Given the description of an element on the screen output the (x, y) to click on. 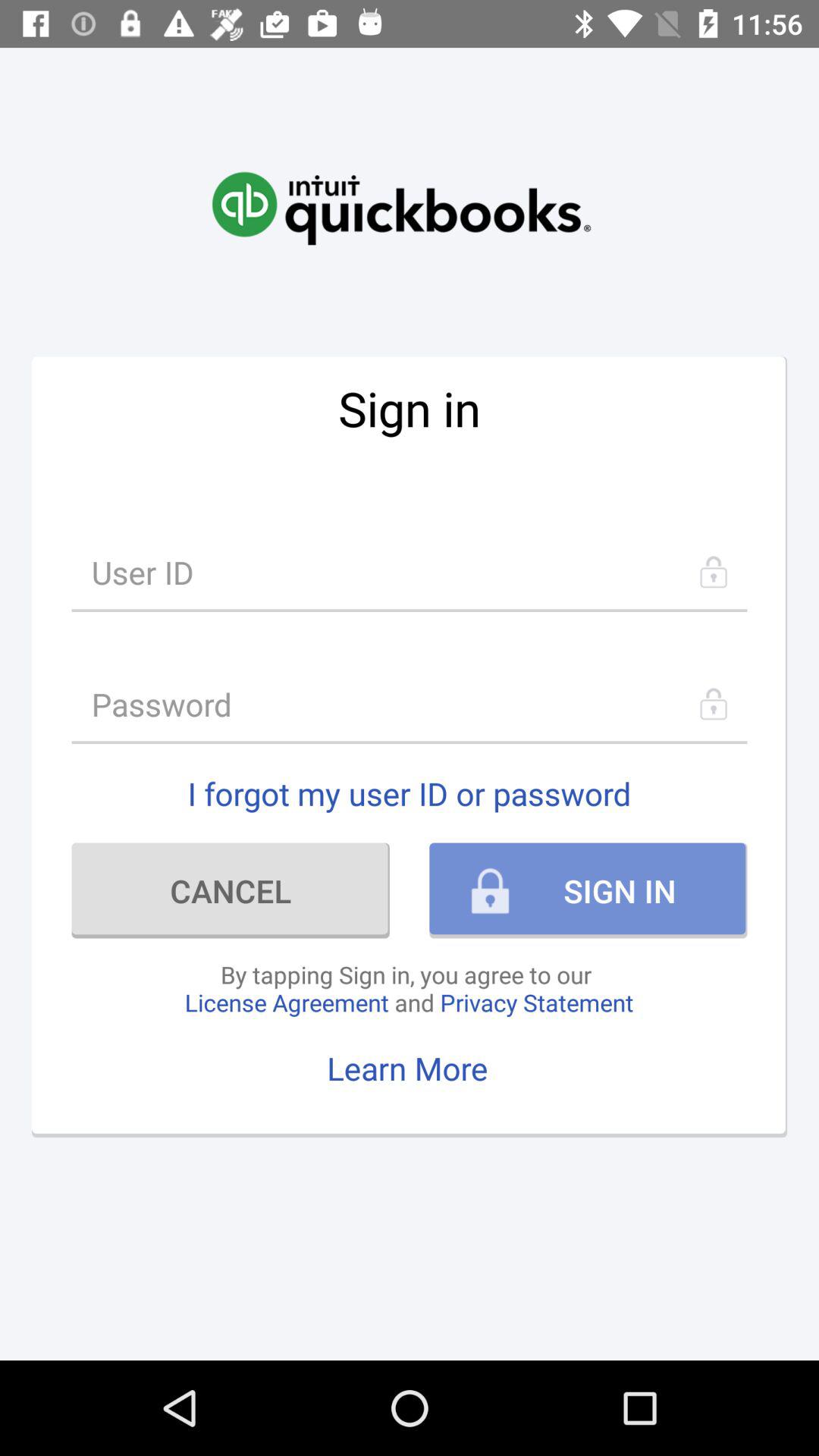
enter user id (409, 571)
